Given the description of an element on the screen output the (x, y) to click on. 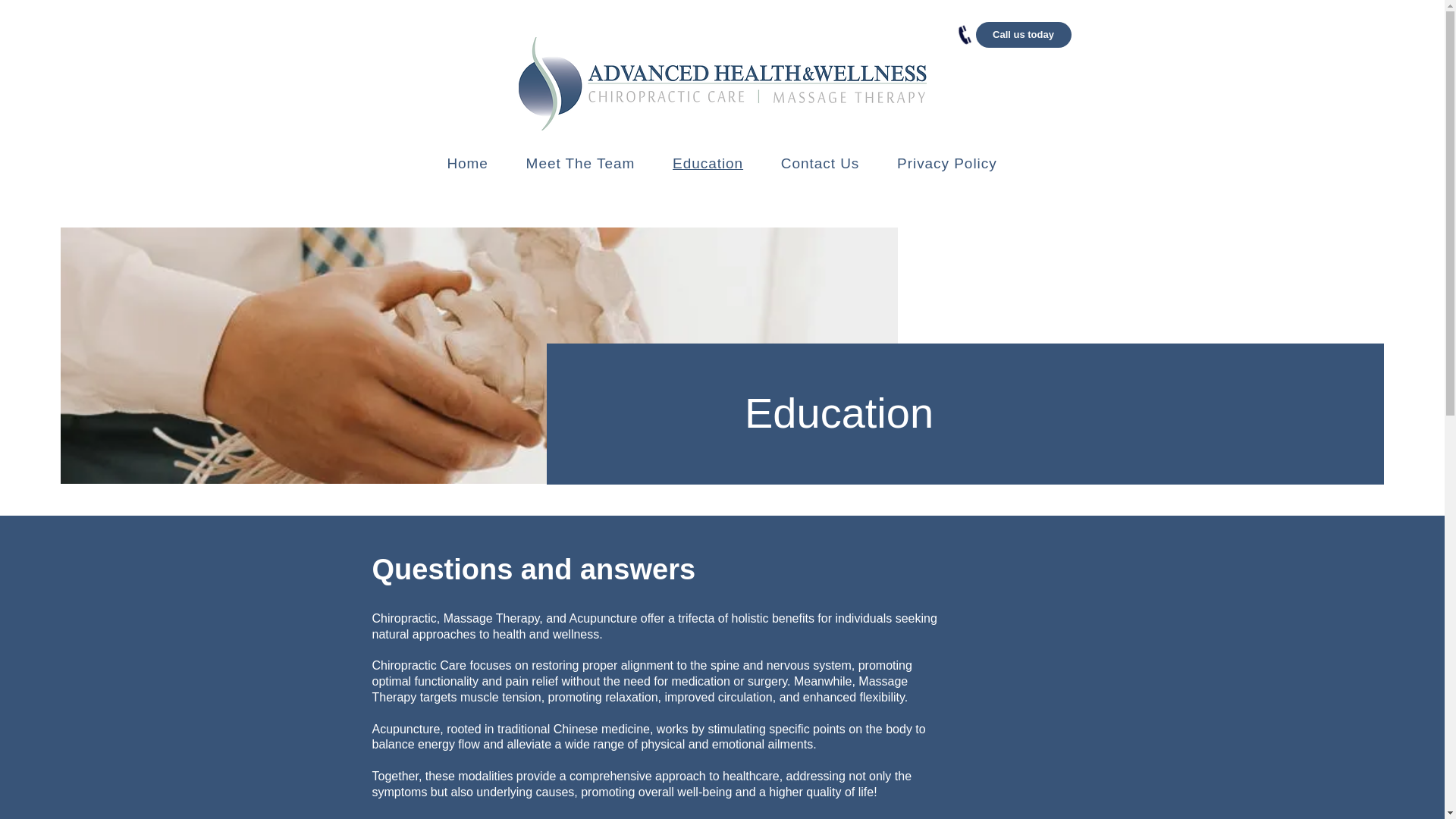
Education (707, 163)
Meet The Team (580, 163)
Call us today (1022, 34)
Contact Us (820, 163)
Home (466, 163)
Privacy Policy (945, 163)
